Given the description of an element on the screen output the (x, y) to click on. 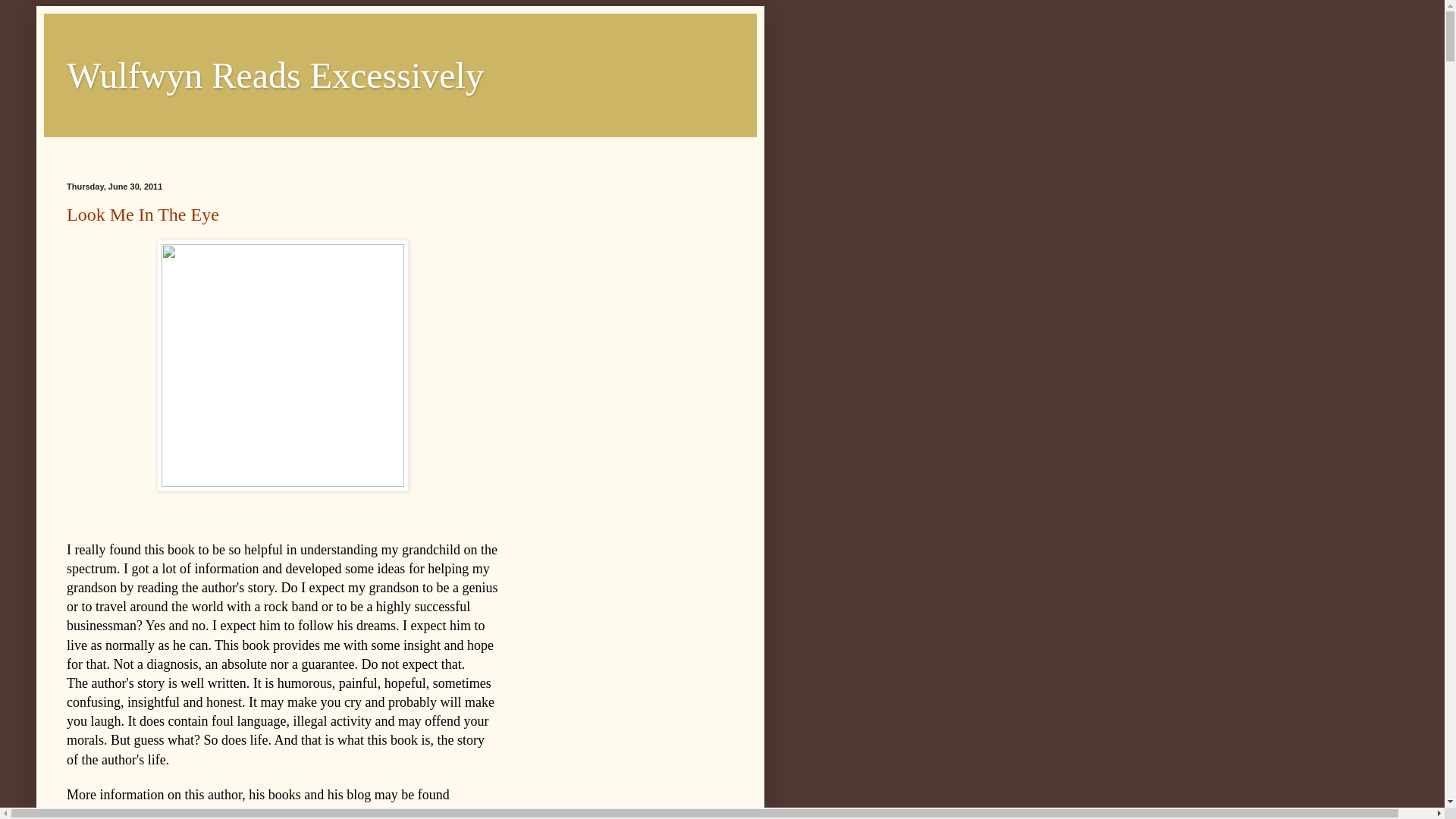
Look Me In The Eye (142, 214)
Wulfwyn Reads Excessively (274, 75)
